Given the description of an element on the screen output the (x, y) to click on. 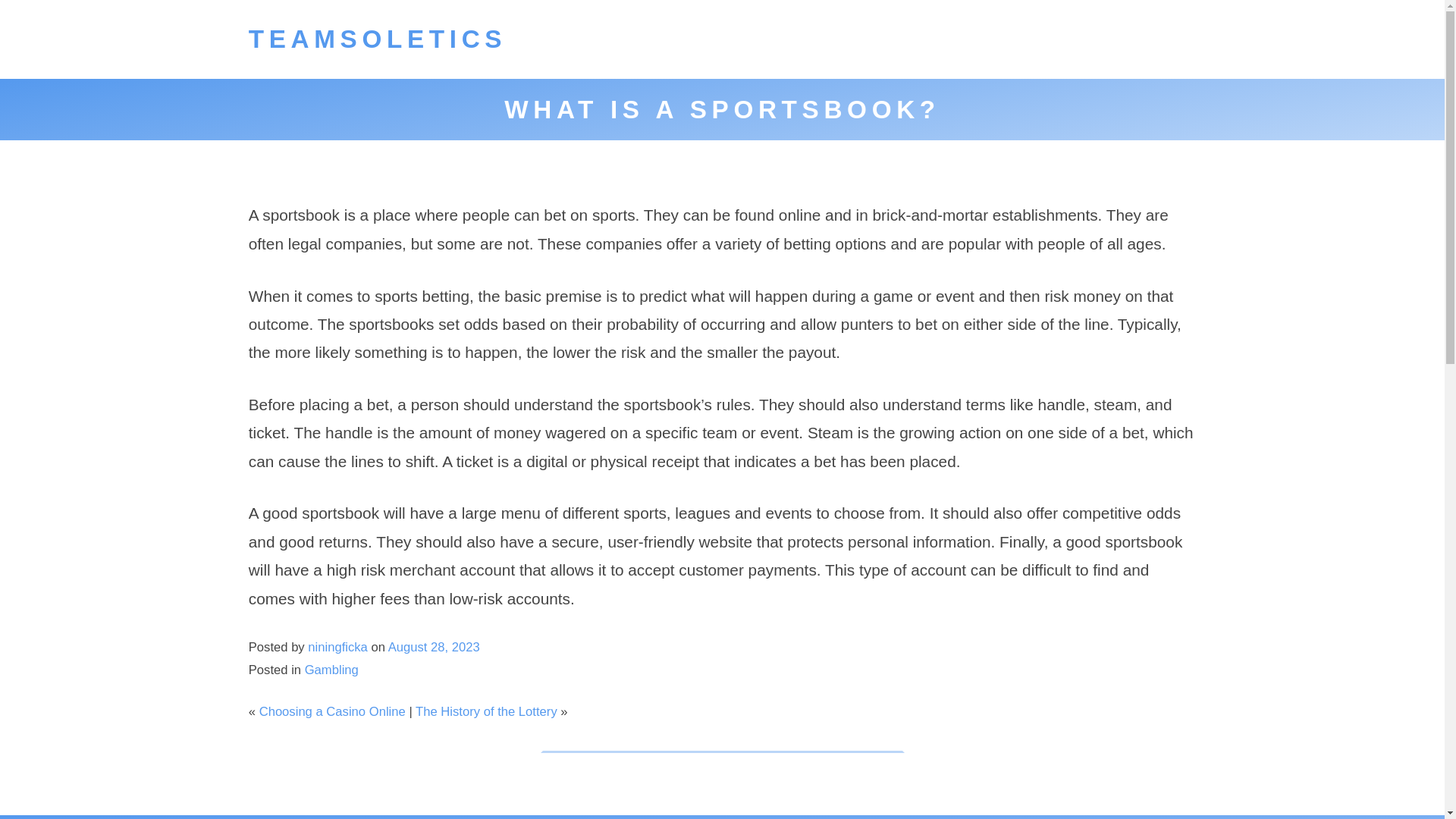
niningficka (337, 646)
August 28, 2023 (434, 646)
Choosing a Casino Online (332, 711)
The History of the Lottery (485, 711)
Gambling (331, 669)
TEAMSOLETICS (377, 39)
